Given the description of an element on the screen output the (x, y) to click on. 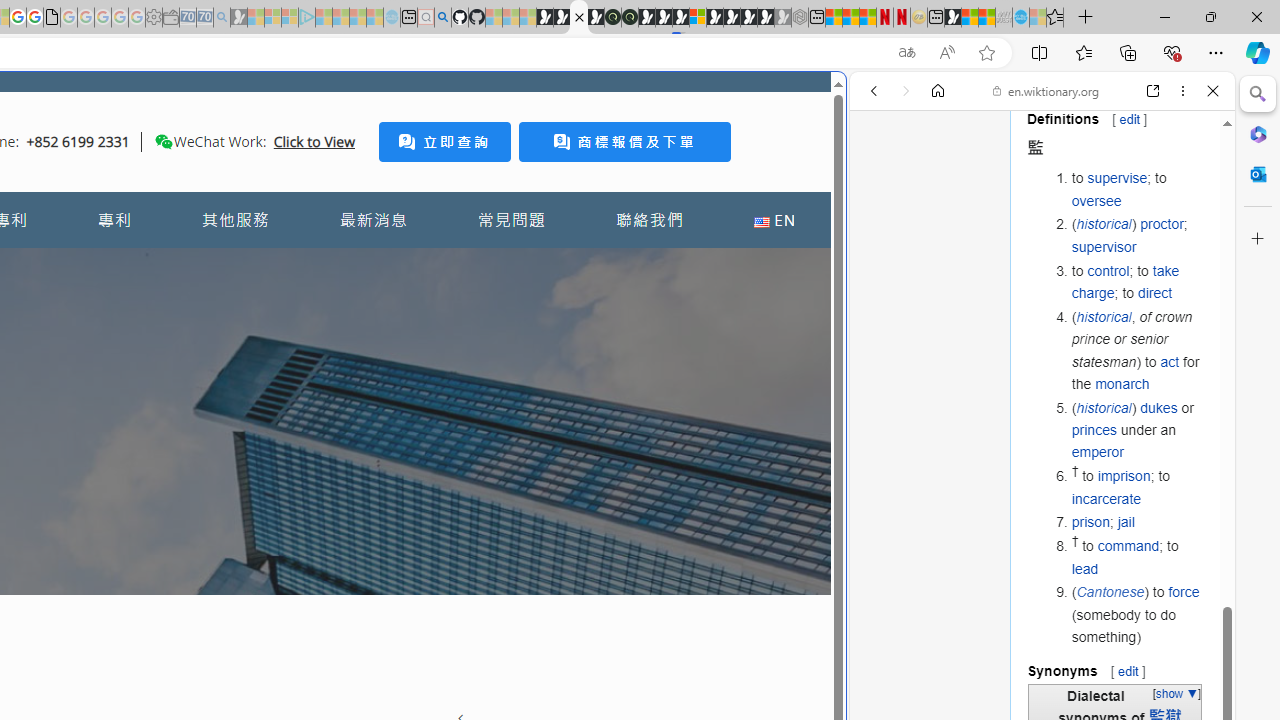
emperor (1097, 452)
Restore (1210, 16)
Frequently visited (418, 265)
(historical) dukes or princes under an emperor (1137, 429)
Close Customize pane (1258, 239)
Search Filter, VIDEOS (1006, 228)
Cantonese (1110, 592)
Class: desktop (163, 141)
World - MSN (969, 17)
Cheap Car Rentals - Save70.com - Sleeping (204, 17)
Show translate options (906, 53)
WEB   (882, 228)
to supervise; to oversee (1137, 189)
